Given the description of an element on the screen output the (x, y) to click on. 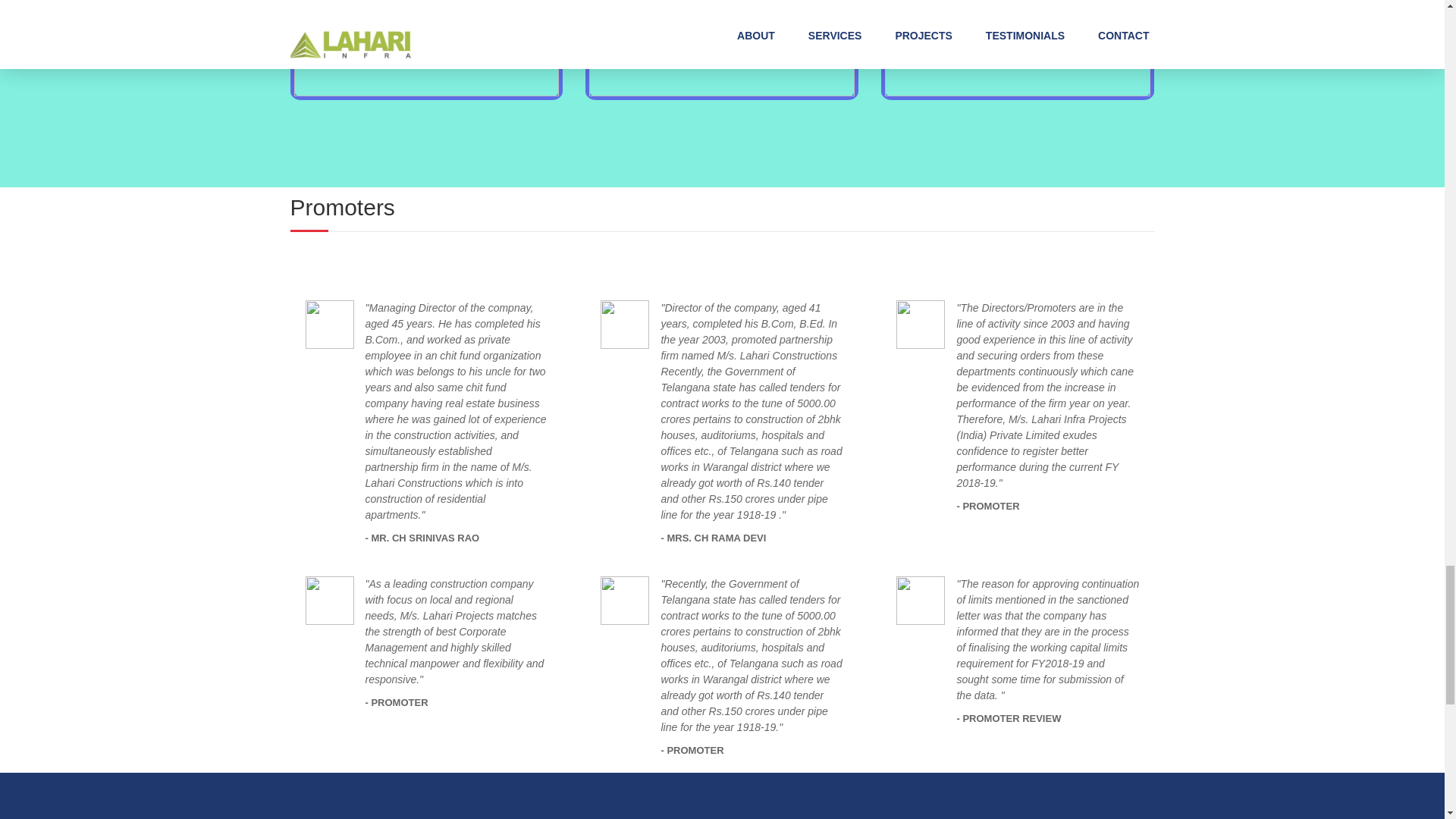
Lahari Cosmo Politan Somajiguda new site (721, 48)
LAHARI BHARATHI FOR ELEVATION (426, 48)
